Given the description of an element on the screen output the (x, y) to click on. 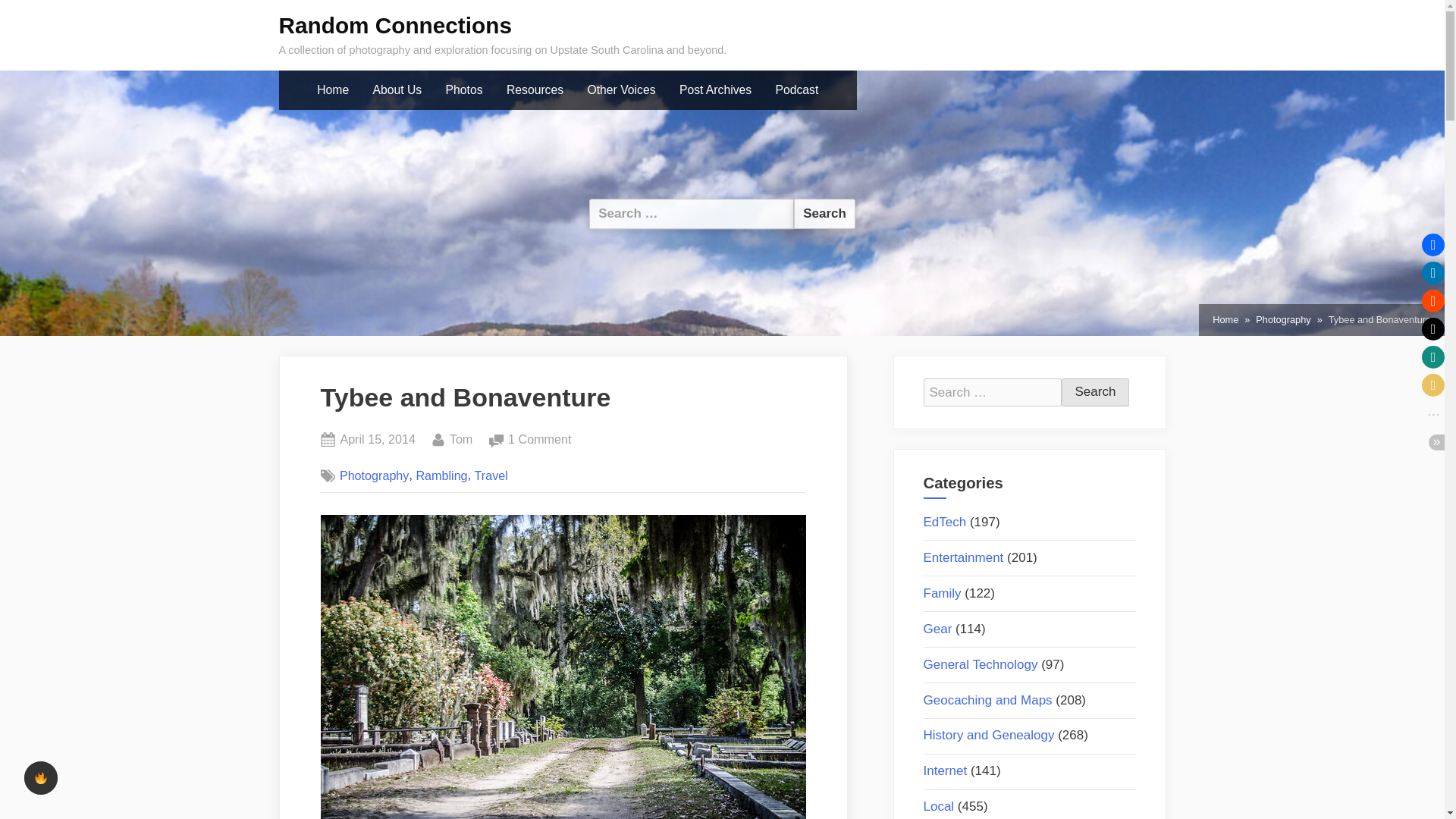
Other Voices (621, 90)
About Us (539, 439)
Search (397, 90)
Travel (824, 214)
Photography (491, 475)
Search (374, 475)
Podcast (824, 214)
Search (797, 90)
Search (1095, 392)
Post Archives (1095, 392)
Photography (461, 439)
Rambling (715, 90)
Home (1282, 320)
